Given the description of an element on the screen output the (x, y) to click on. 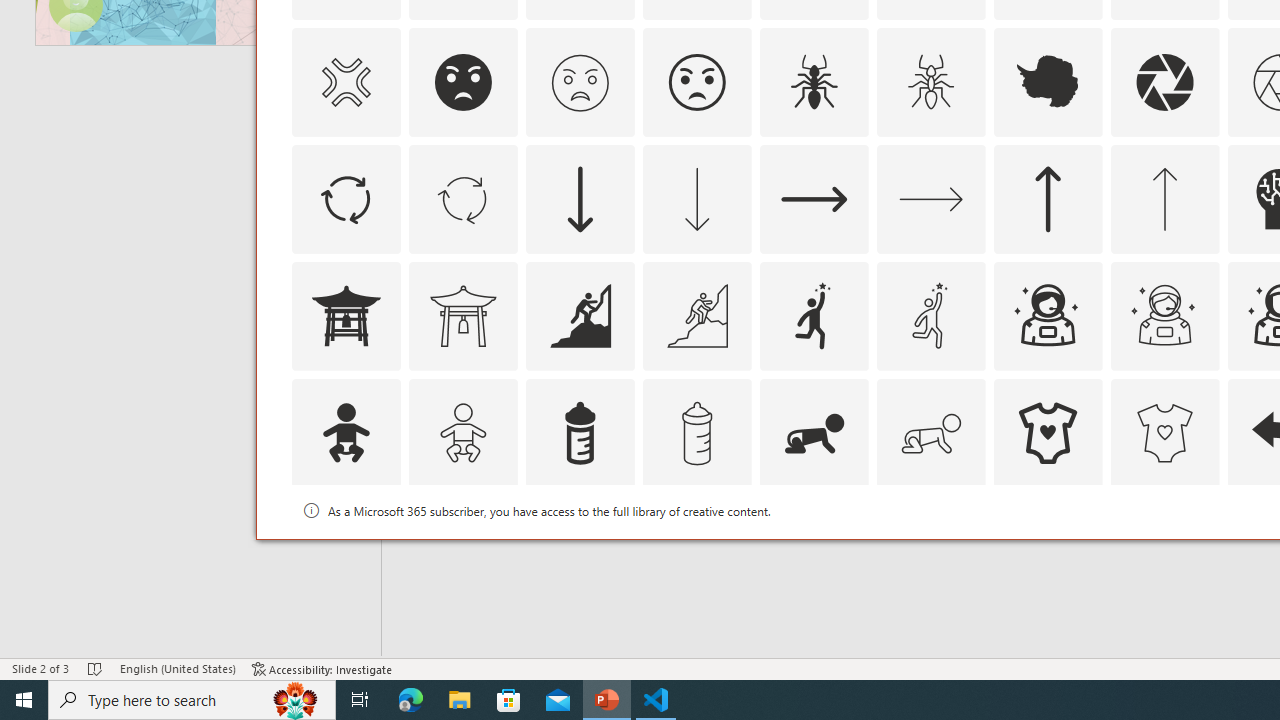
AutomationID: Icons_AsianTemple1_M (463, 316)
AutomationID: Icons_Aspiration1 (813, 316)
AutomationID: Icons_BabyBottle_M (696, 432)
AutomationID: Icons_Badge2_M (579, 550)
AutomationID: Icons_Badge5 (1164, 550)
AutomationID: Icons_Baby_M (463, 432)
AutomationID: Icons_AngryFace (463, 82)
AutomationID: Icons_ArrowRight_M (930, 198)
AutomationID: Icons_Aspiration1_M (930, 316)
